Given the description of an element on the screen output the (x, y) to click on. 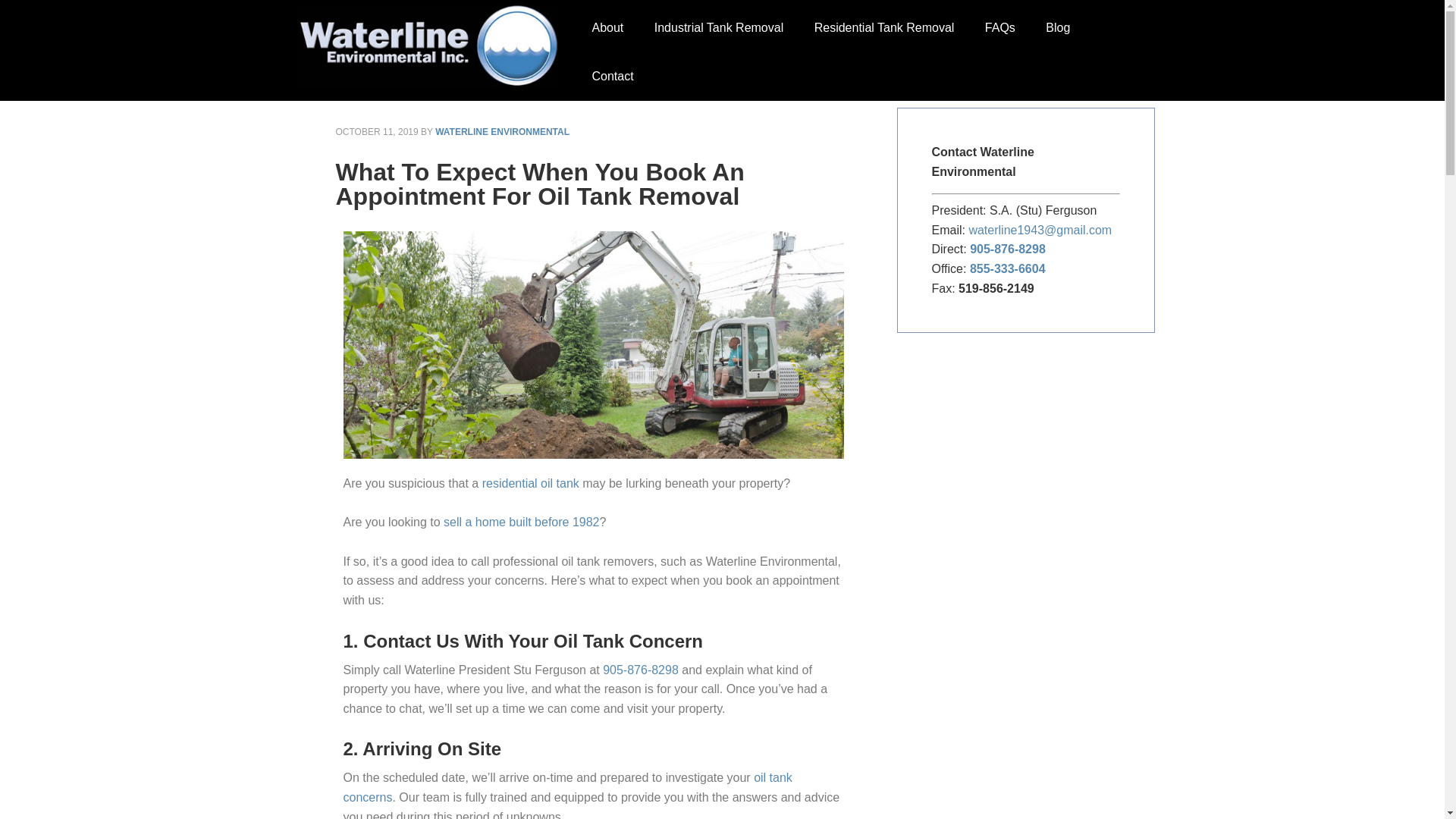
FAQs (1000, 28)
oil tank concerns (567, 787)
905-876-8298 (1007, 248)
Contact (612, 76)
905-876-8298 (640, 669)
Blog (1057, 28)
Residential Tank Removal (884, 28)
WATERLINE ENVIRONMENTAL (502, 131)
About (607, 28)
Industrial Tank Removal (718, 28)
residential oil tank (530, 482)
sell a home built before 1982 (521, 521)
855-333-6604 (1007, 268)
Waterline Environmental (433, 45)
